Given the description of an element on the screen output the (x, y) to click on. 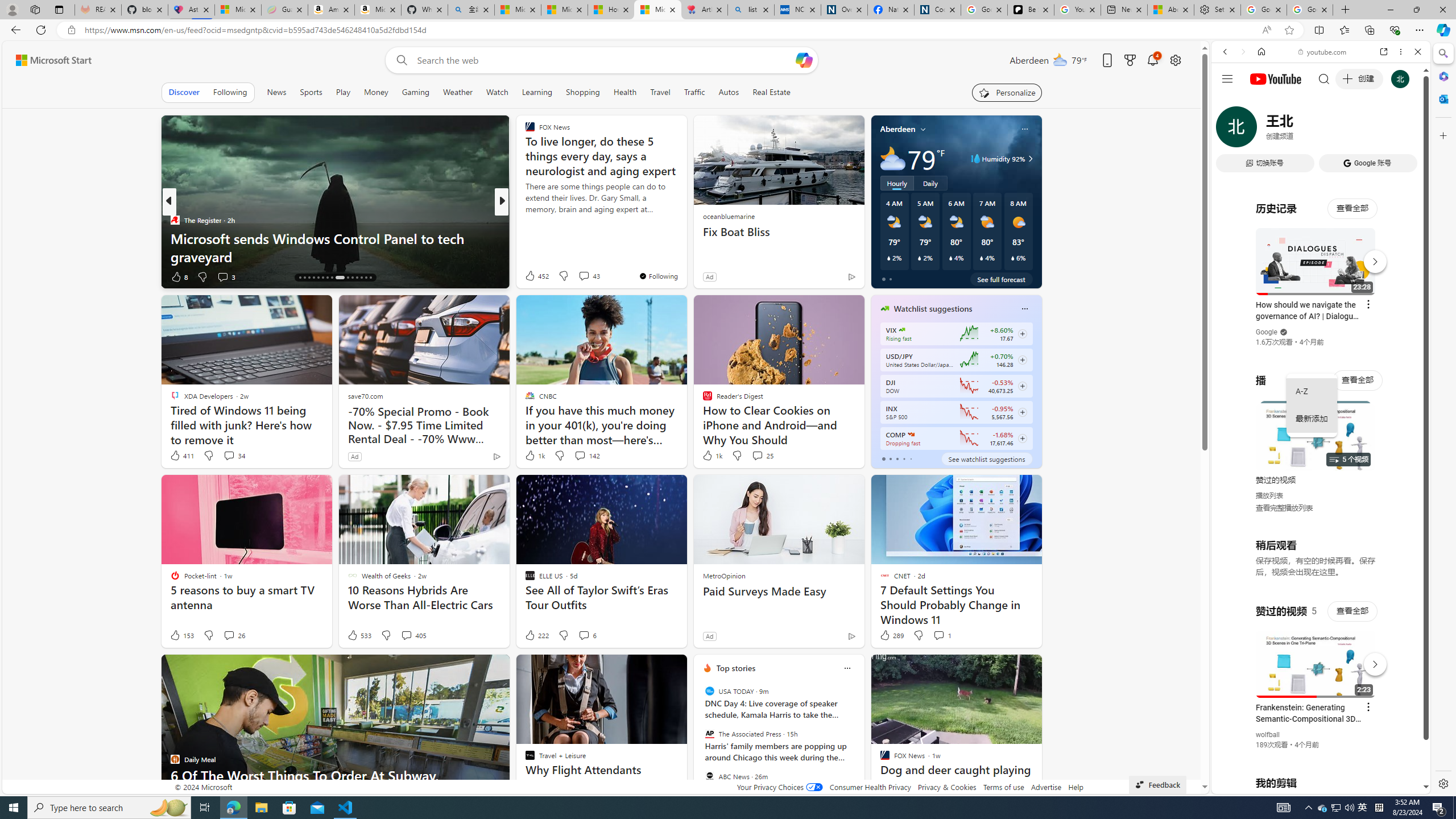
AutomationID: tab-21 (322, 277)
View comments 67 Comment (580, 276)
Top stories (735, 668)
Trailer #2 [HD] (1320, 337)
CNET (524, 219)
Class: weather-arrow-glyph (1029, 158)
20 Like (530, 276)
Actions for this site (1371, 661)
